Given the description of an element on the screen output the (x, y) to click on. 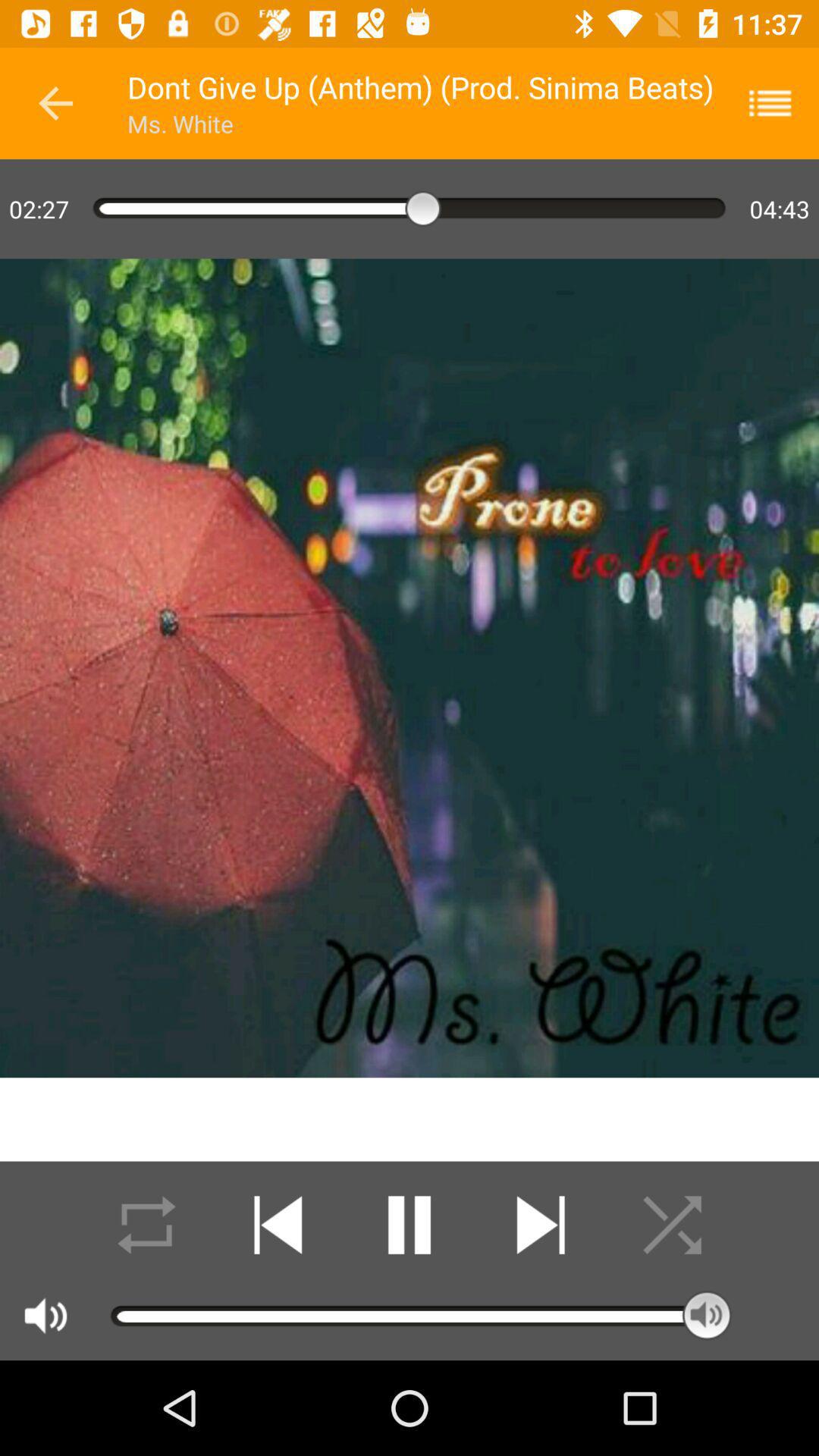
previous song (277, 1224)
